Given the description of an element on the screen output the (x, y) to click on. 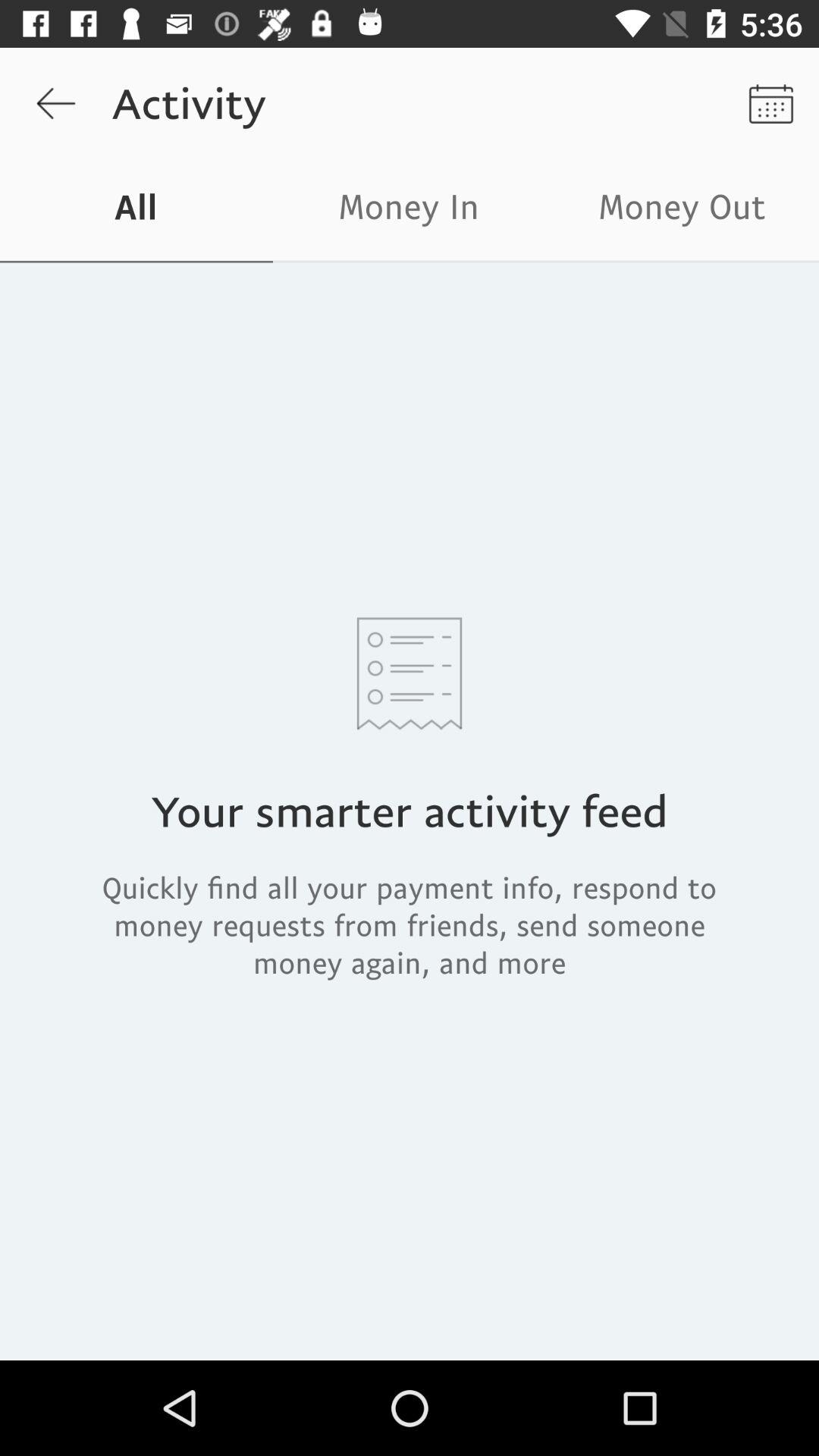
press icon to the left of the money out (409, 210)
